Given the description of an element on the screen output the (x, y) to click on. 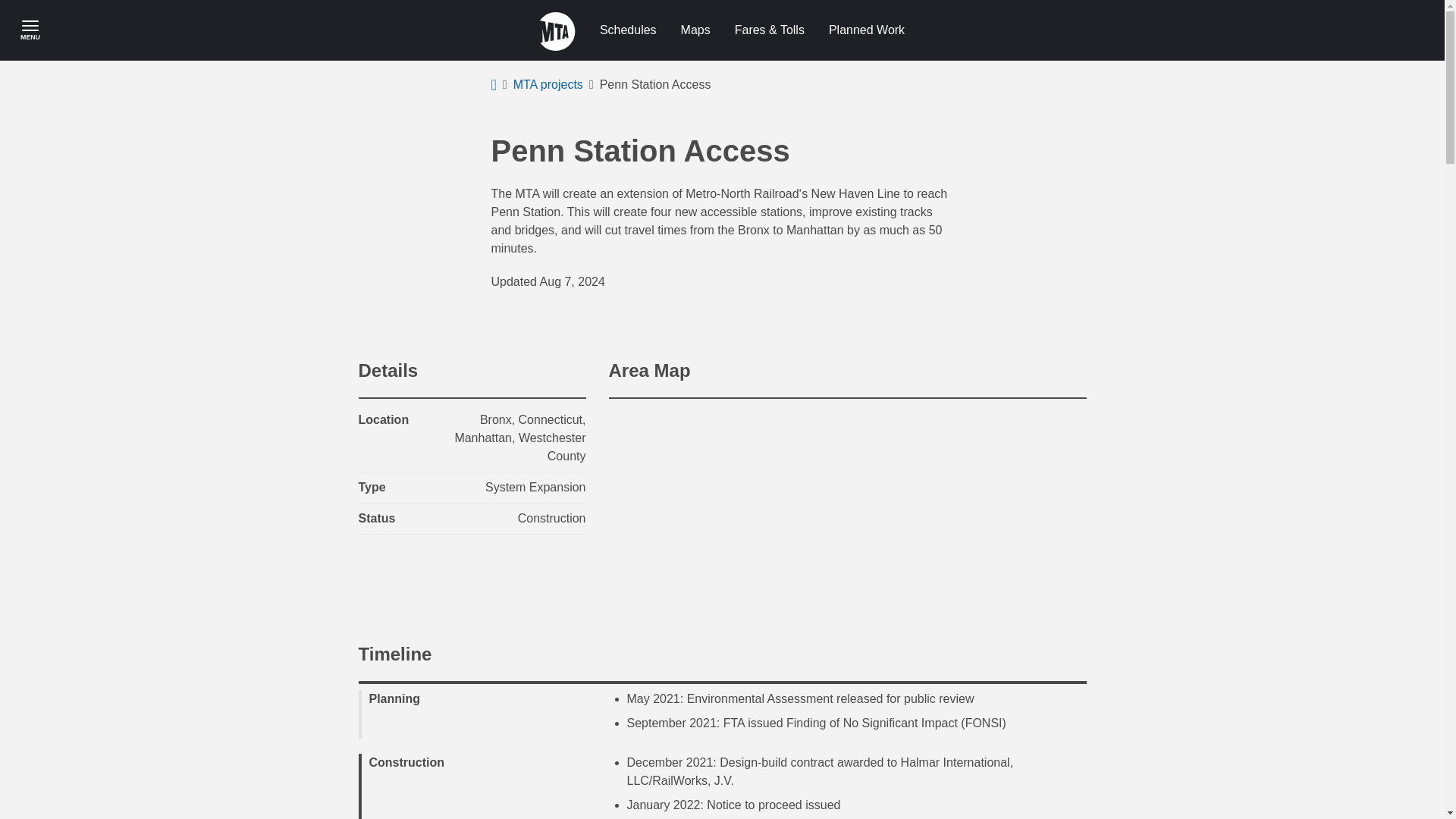
MTA (557, 30)
MTA projects (548, 85)
Planned Work (866, 30)
Schedules (628, 30)
